Given the description of an element on the screen output the (x, y) to click on. 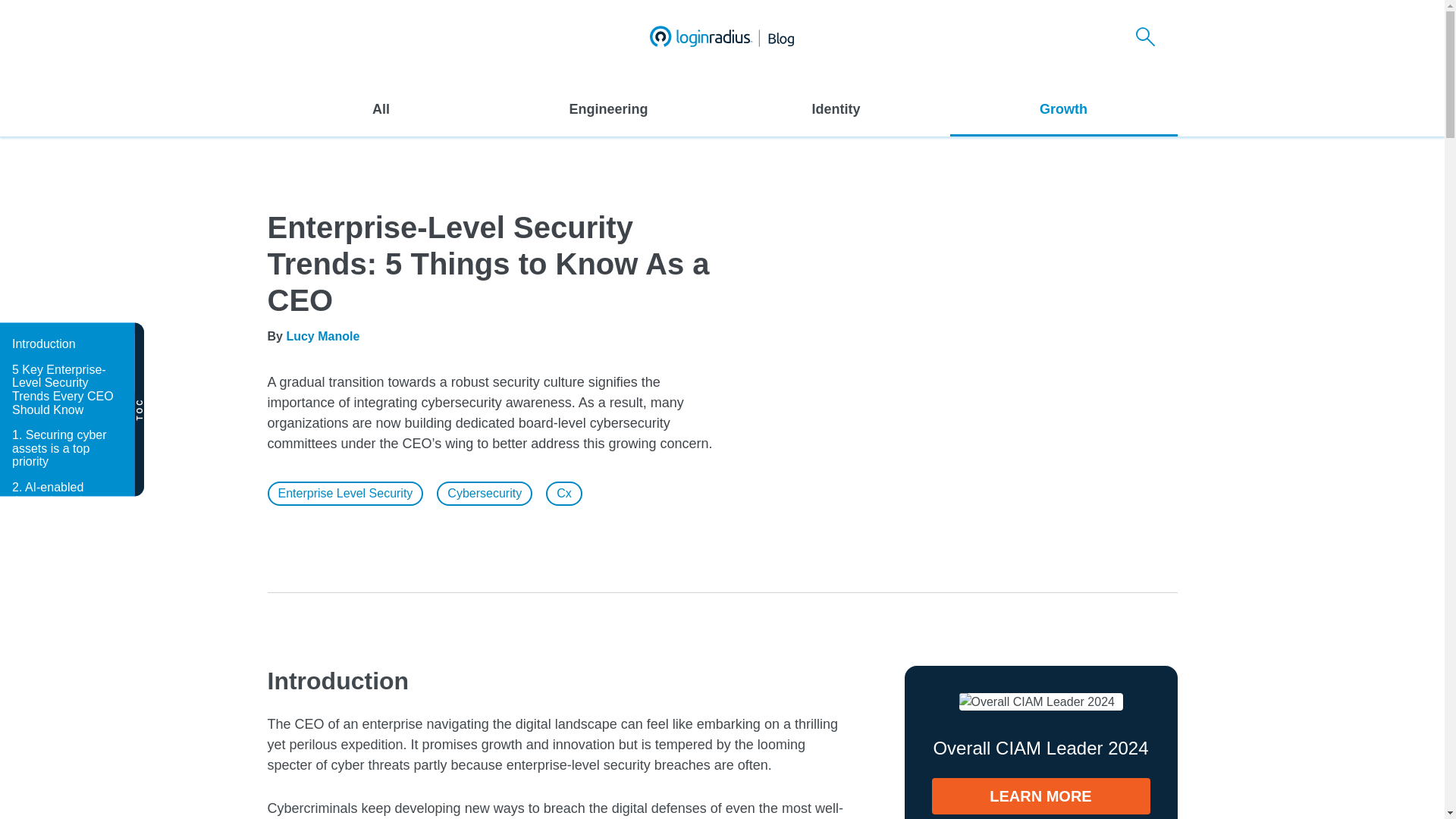
Growth (1062, 108)
1. Securing cyber assets is a top priority (66, 448)
Cybersecurity (484, 493)
LEARN MORE (1040, 796)
Introduction (66, 344)
Identity (835, 108)
Engineering (608, 108)
Enterprise Level Security (344, 493)
Cx (564, 493)
5 Key Enterprise-Level Security Trends Every CEO Should Know (66, 388)
Lucy Manole (322, 336)
All (380, 108)
